Given the description of an element on the screen output the (x, y) to click on. 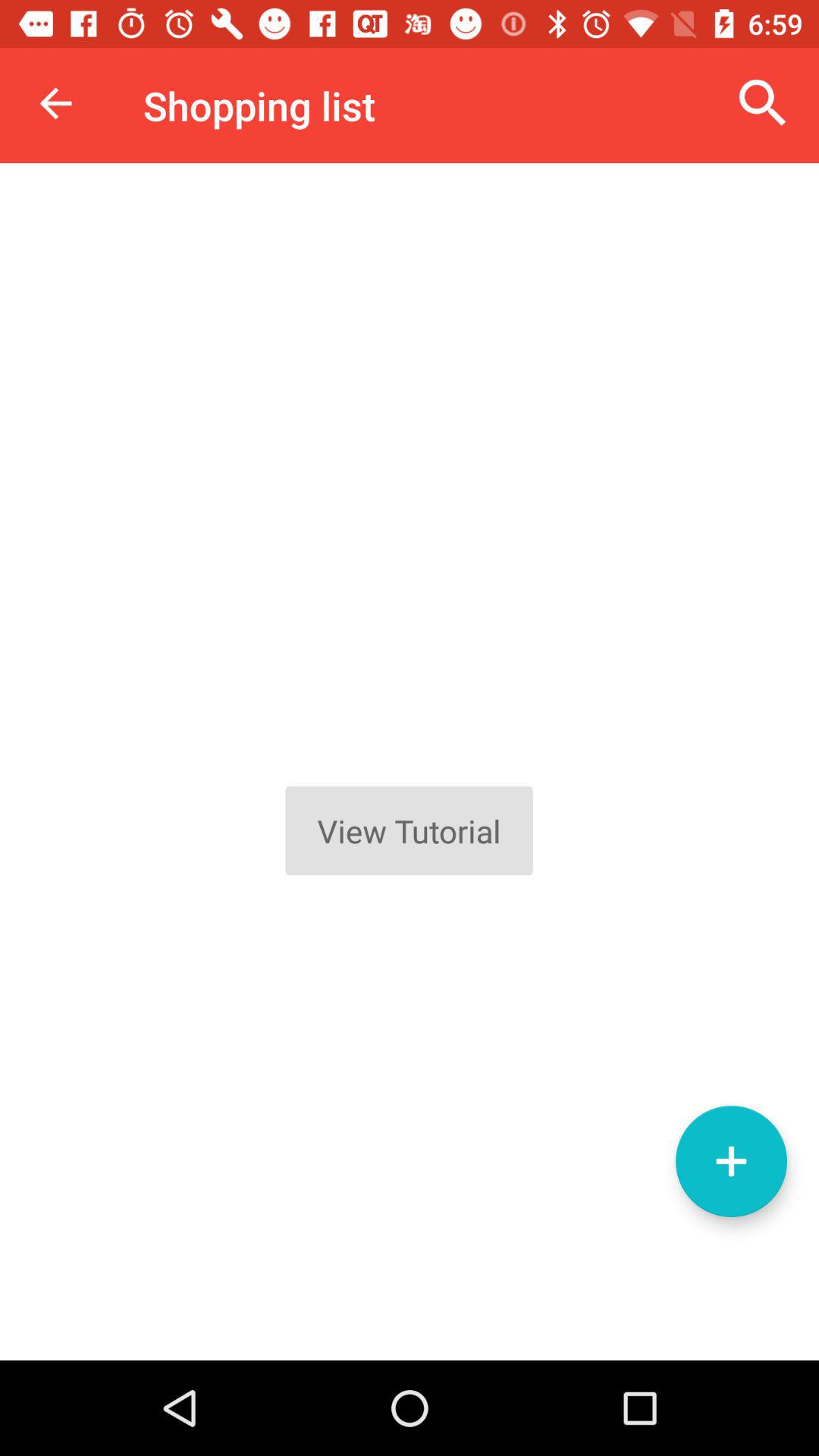
tap icon to the right of the shopping list (763, 103)
